Given the description of an element on the screen output the (x, y) to click on. 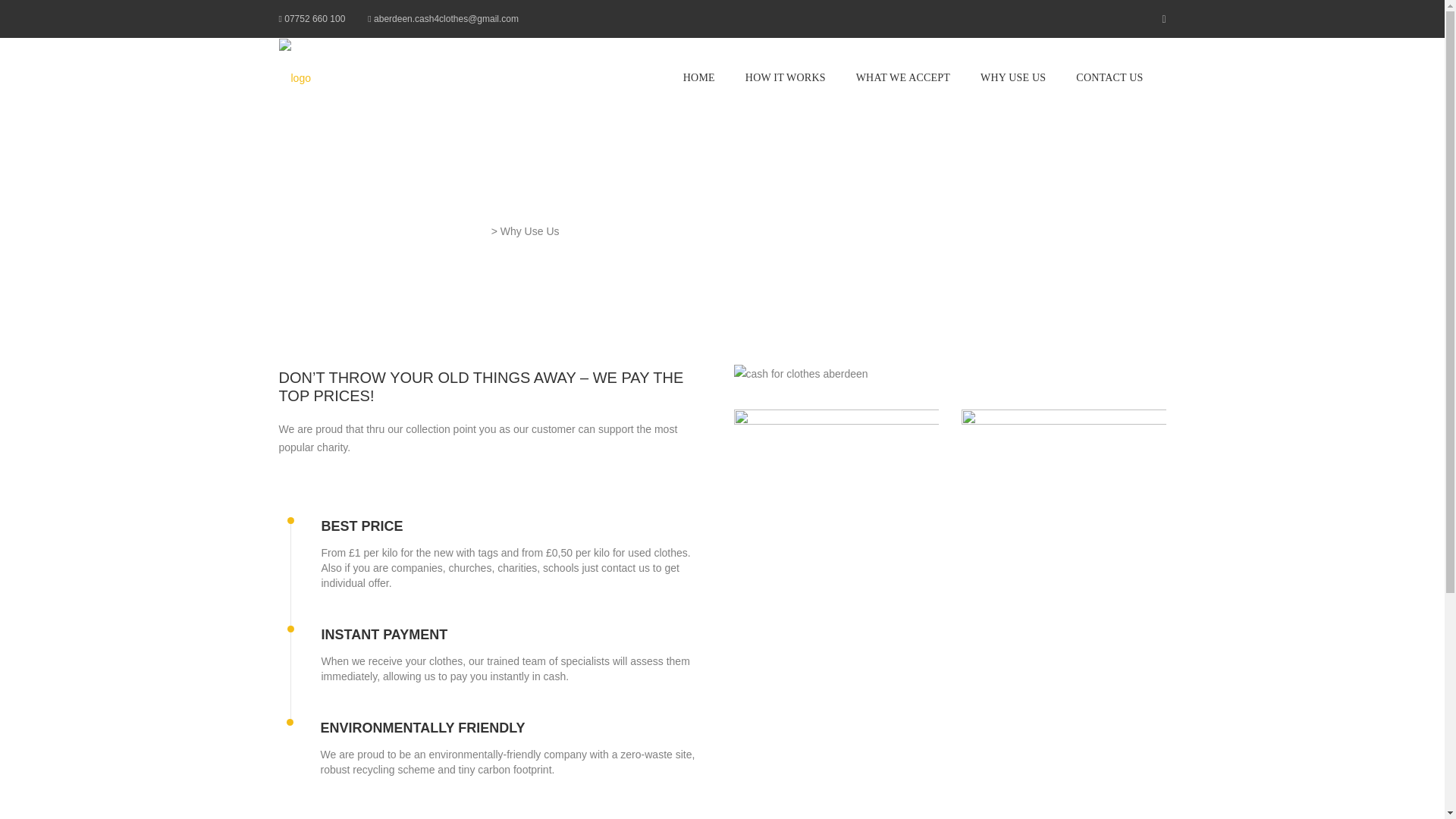
HOME (699, 77)
WHY USE US (1013, 77)
WHY USE US (1013, 77)
CONTACT US (1109, 77)
HOW IT WORKS (785, 77)
CONTACT US (1109, 77)
WHAT WE ACCEPT (903, 77)
Cash 4 Clothes, Cash For Clothes Aberdeen (383, 231)
WHAT WE ACCEPT (903, 77)
HOW IT WORKS (785, 77)
HOME (699, 77)
Go to Cash 4 Clothes, Cash For Clothes Aberdeen. (383, 231)
